Given the description of an element on the screen output the (x, y) to click on. 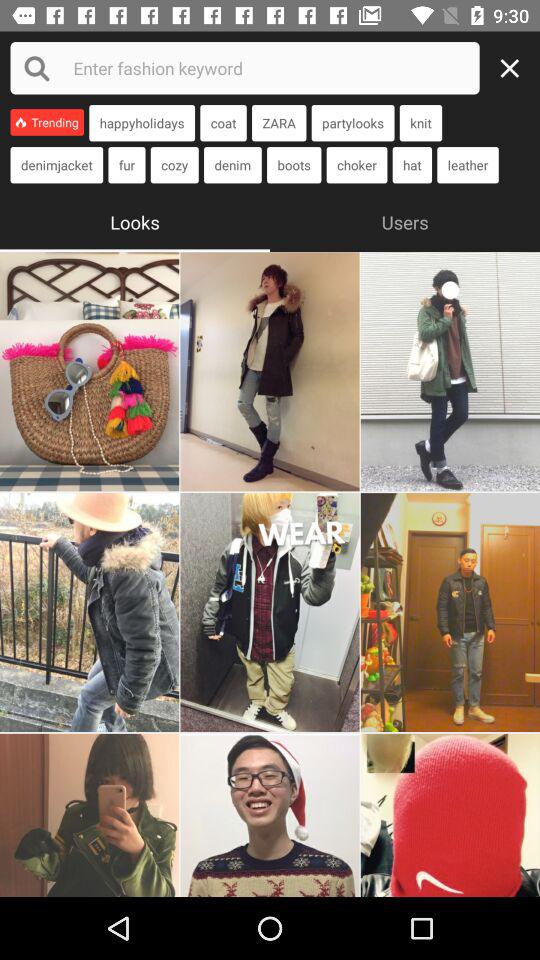
select this photo (269, 612)
